Given the description of an element on the screen output the (x, y) to click on. 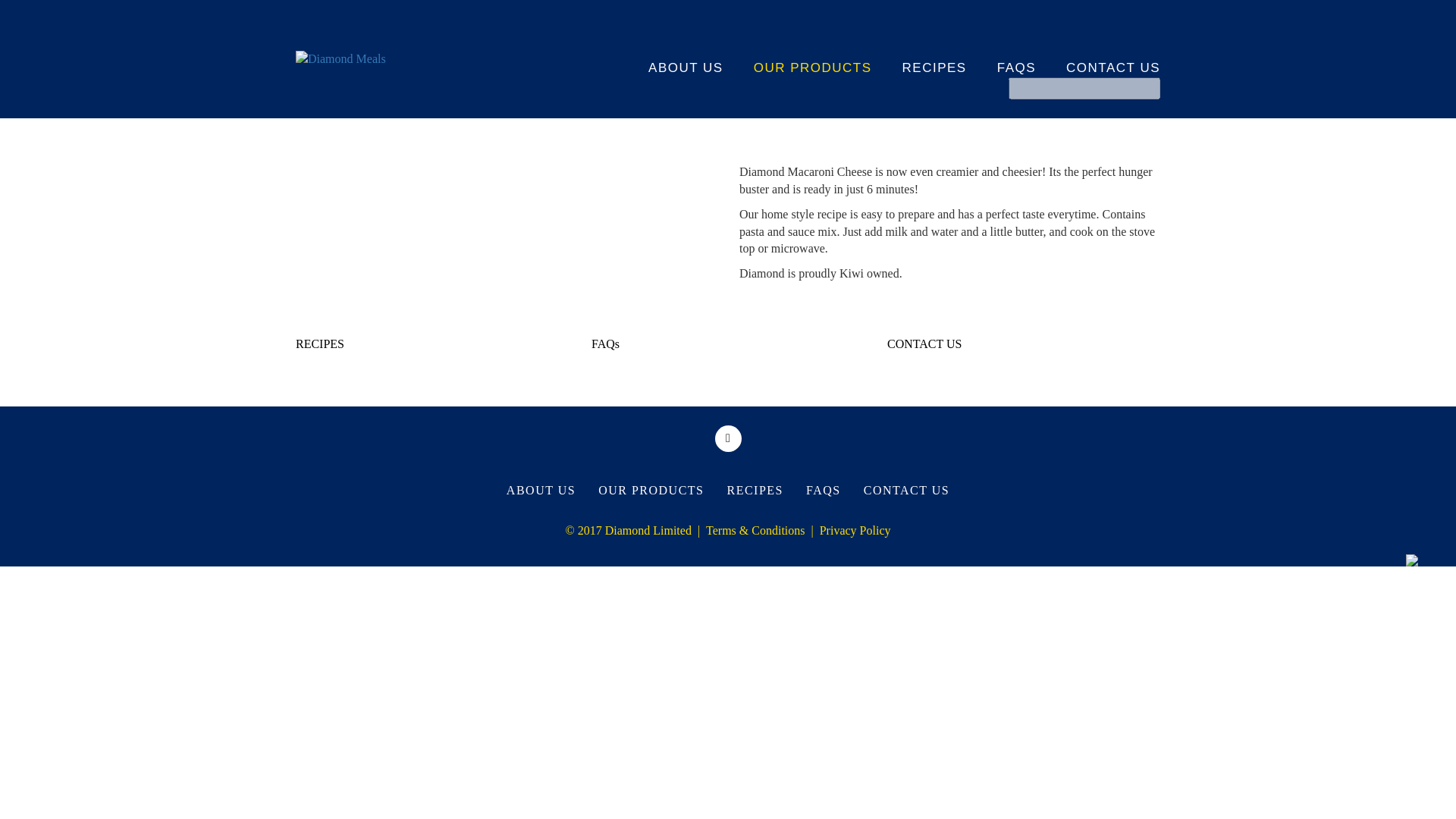
CONTACT US (1023, 343)
RECIPES (919, 56)
ABOUT US (670, 56)
  Privacy Policy (852, 530)
RECIPES (754, 490)
RECIPES (432, 343)
OUR PRODUCTS (797, 56)
CONTACT US (1097, 56)
FAQs (727, 343)
FAQS (822, 490)
